Given the description of an element on the screen output the (x, y) to click on. 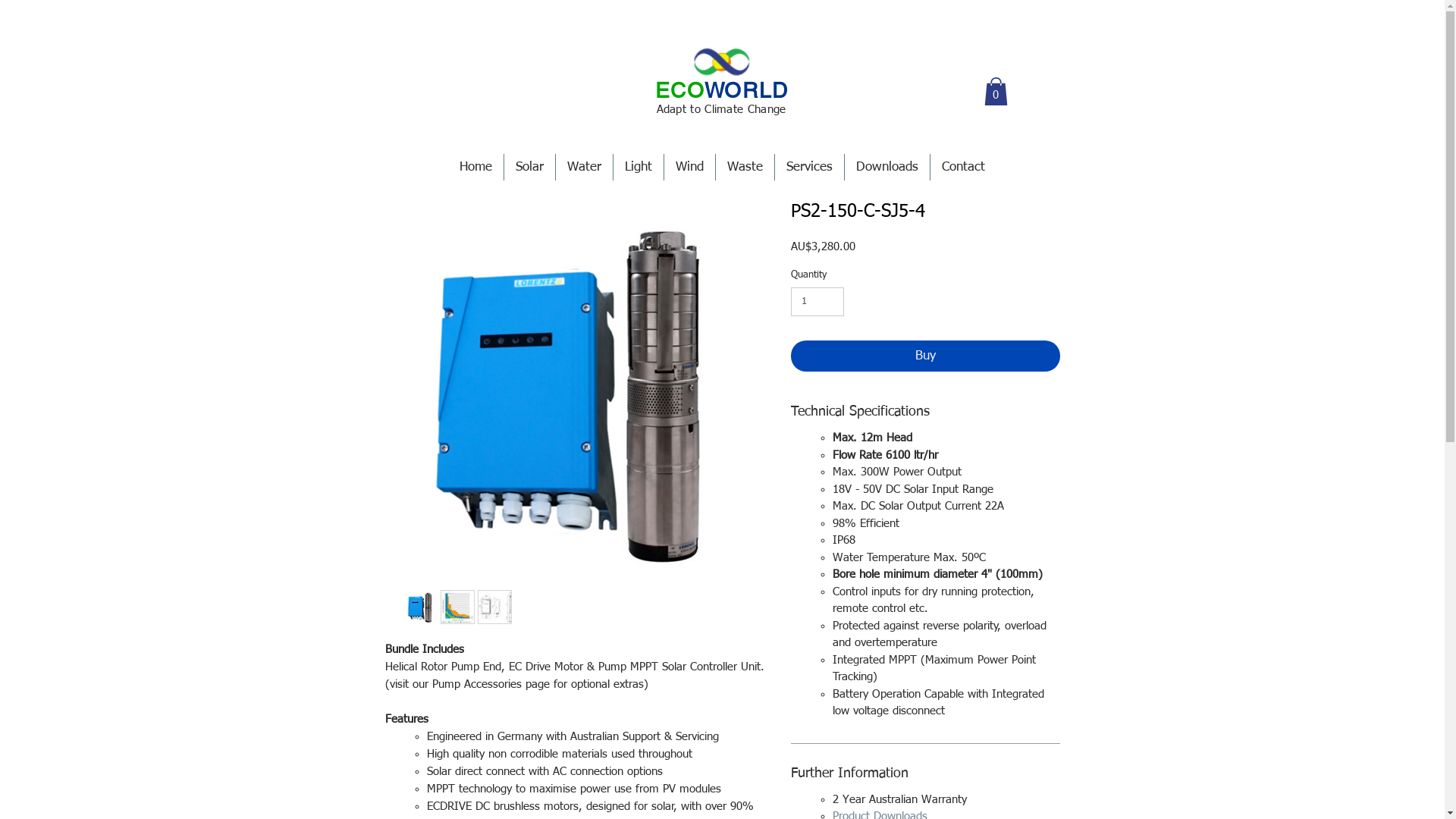
Embedded Content Element type: hover (1062, 203)
Home Element type: text (475, 166)
0 Element type: text (995, 91)
Contact Element type: text (963, 166)
Buy Element type: text (924, 356)
